Given the description of an element on the screen output the (x, y) to click on. 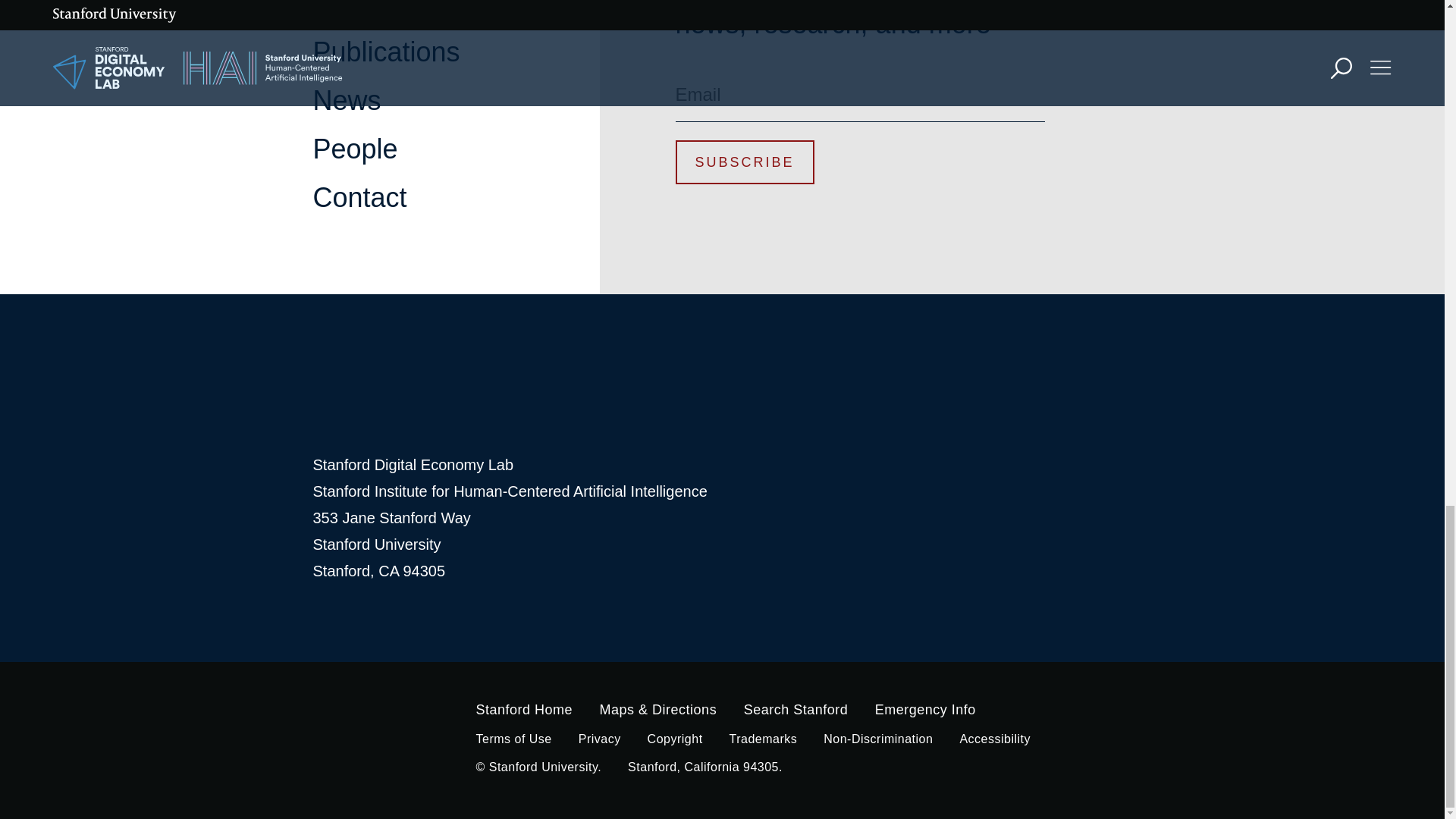
Search Stanford (796, 709)
Copyright (675, 738)
People (355, 148)
Emergency Info (925, 709)
Contact (359, 196)
Report alleged copyright infringement (675, 738)
Subscribe (744, 161)
Events (354, 9)
Subscribe (744, 161)
Privacy and cookie policy (599, 738)
News (346, 100)
Privacy (599, 738)
Terms of Use (513, 738)
Non-Discrimination (878, 738)
Report web accessibility issues (994, 738)
